Given the description of an element on the screen output the (x, y) to click on. 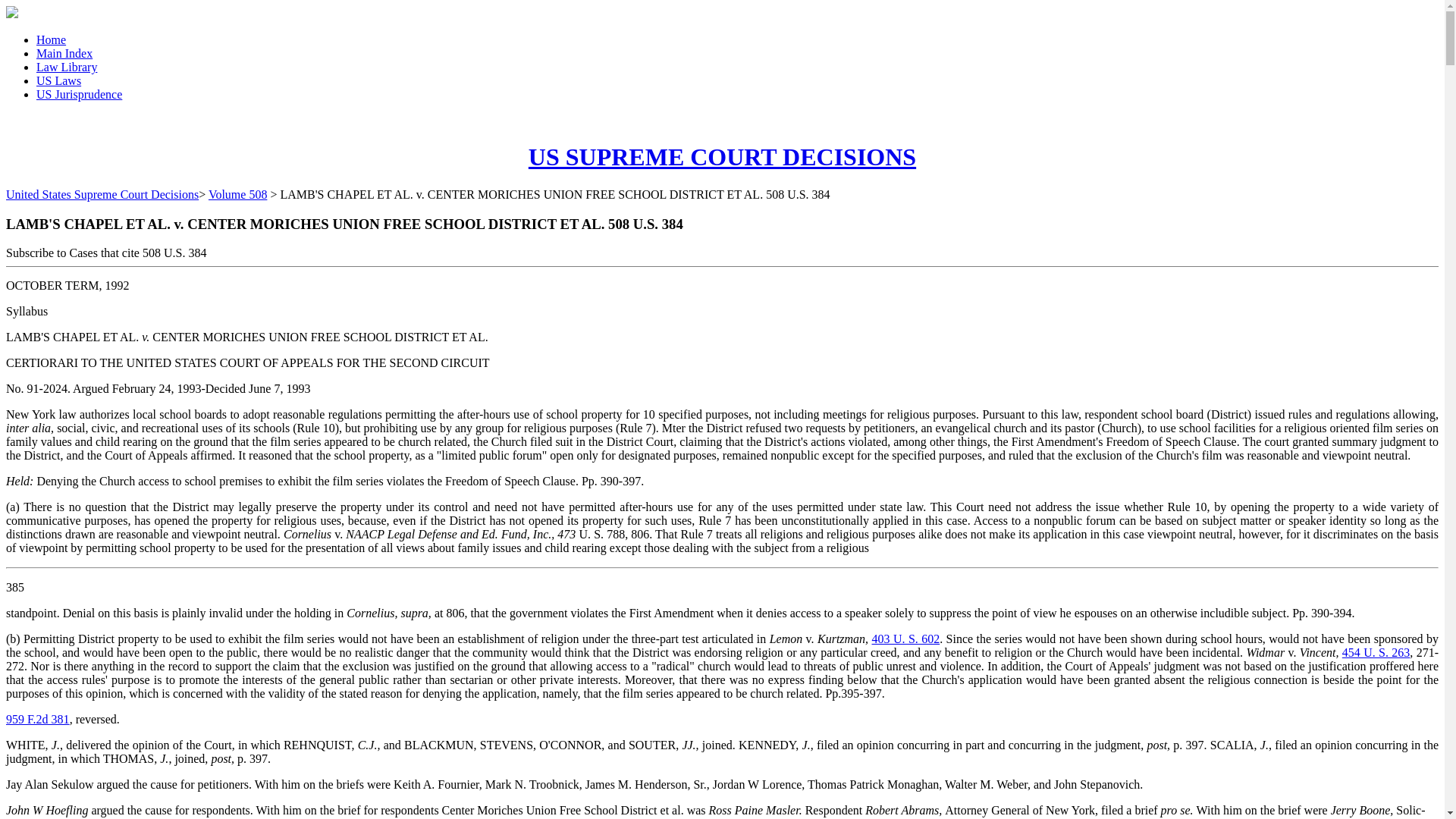
US SUPREME COURT DECISIONS (721, 156)
Home (50, 39)
United States Supreme Court Decisions (101, 194)
403 U. S. 602 (906, 638)
454 U. S. 263 (1376, 652)
385 (14, 586)
Law Library (66, 66)
Main Index (64, 52)
United States Supreme Court Decisions - On-Line (721, 156)
Volume 508 (237, 194)
959 F.2d 381 (37, 718)
US Laws (58, 80)
US Jurisprudence (79, 93)
